Given the description of an element on the screen output the (x, y) to click on. 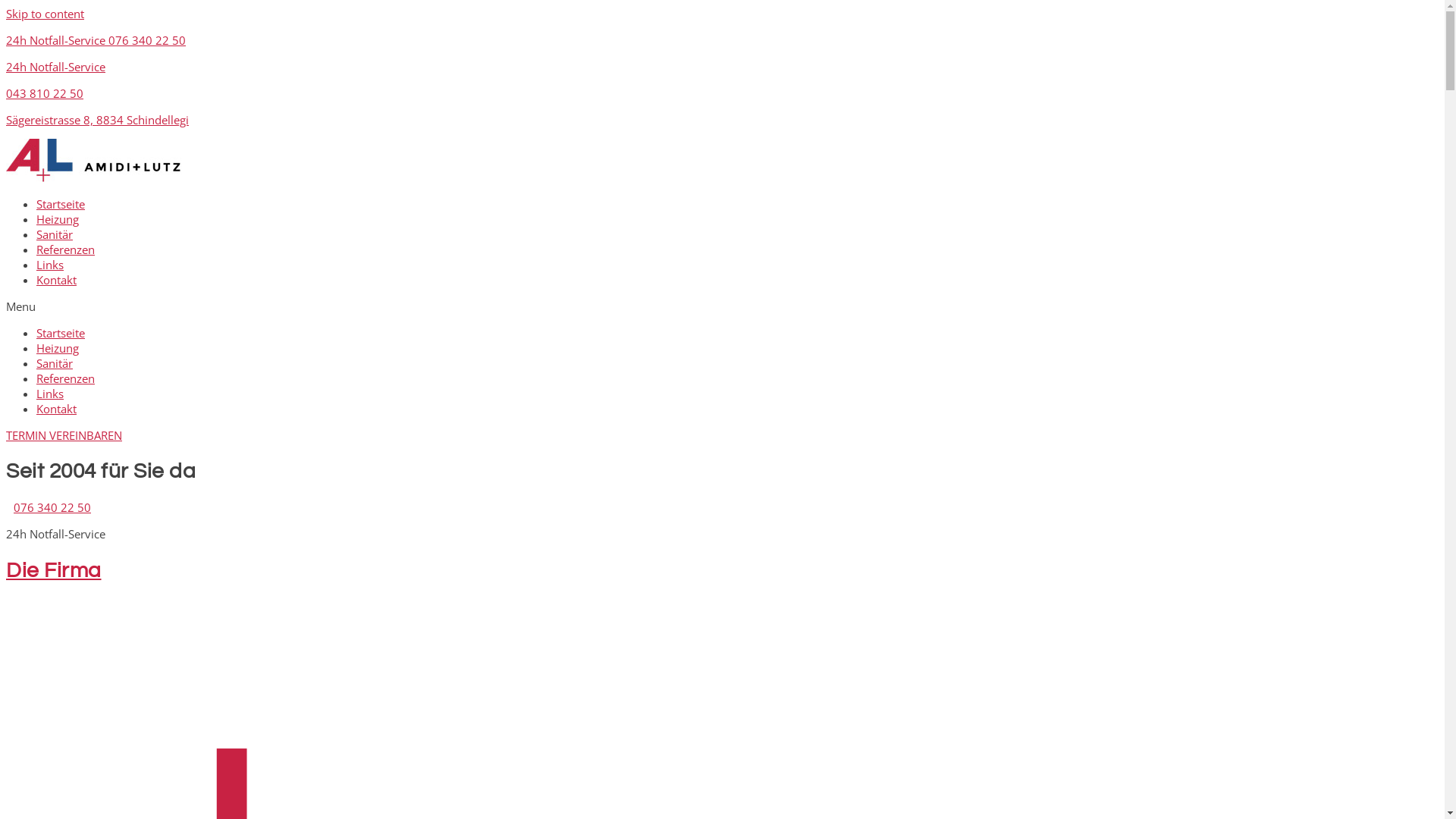
Kontakt Element type: text (56, 408)
076 340 22 50 Element type: text (52, 506)
Heizung Element type: text (57, 218)
Die Firma Element type: text (53, 570)
Skip to content Element type: text (45, 13)
Kontakt Element type: text (56, 279)
Referenzen Element type: text (65, 377)
043 810 22 50 Element type: text (44, 92)
Referenzen Element type: text (65, 249)
Heizung Element type: text (57, 347)
24h Notfall-Service Element type: text (55, 66)
Links Element type: text (49, 393)
Links Element type: text (49, 264)
Startseite Element type: text (60, 203)
Startseite Element type: text (60, 332)
24h Notfall-Service 076 340 22 50 Element type: text (95, 39)
TERMIN VEREINBAREN Element type: text (64, 434)
